Given the description of an element on the screen output the (x, y) to click on. 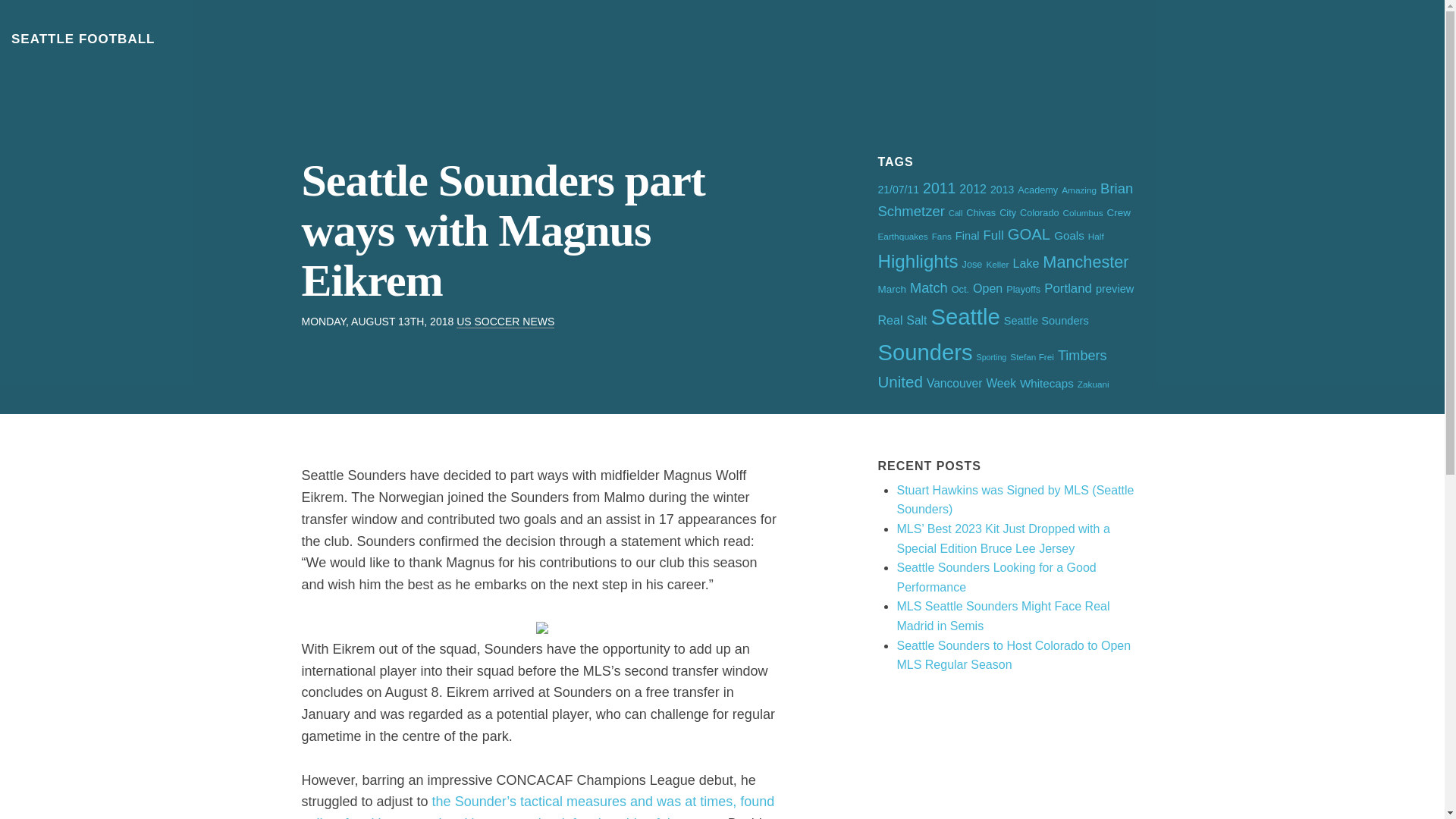
Highlights (917, 260)
2011 (939, 187)
Academy (1037, 190)
Real (889, 319)
Amazing (1078, 189)
Chivas (980, 213)
Oct. (960, 289)
US SOCCER NEWS (505, 321)
Earthquakes (902, 235)
City (1007, 213)
